Given the description of an element on the screen output the (x, y) to click on. 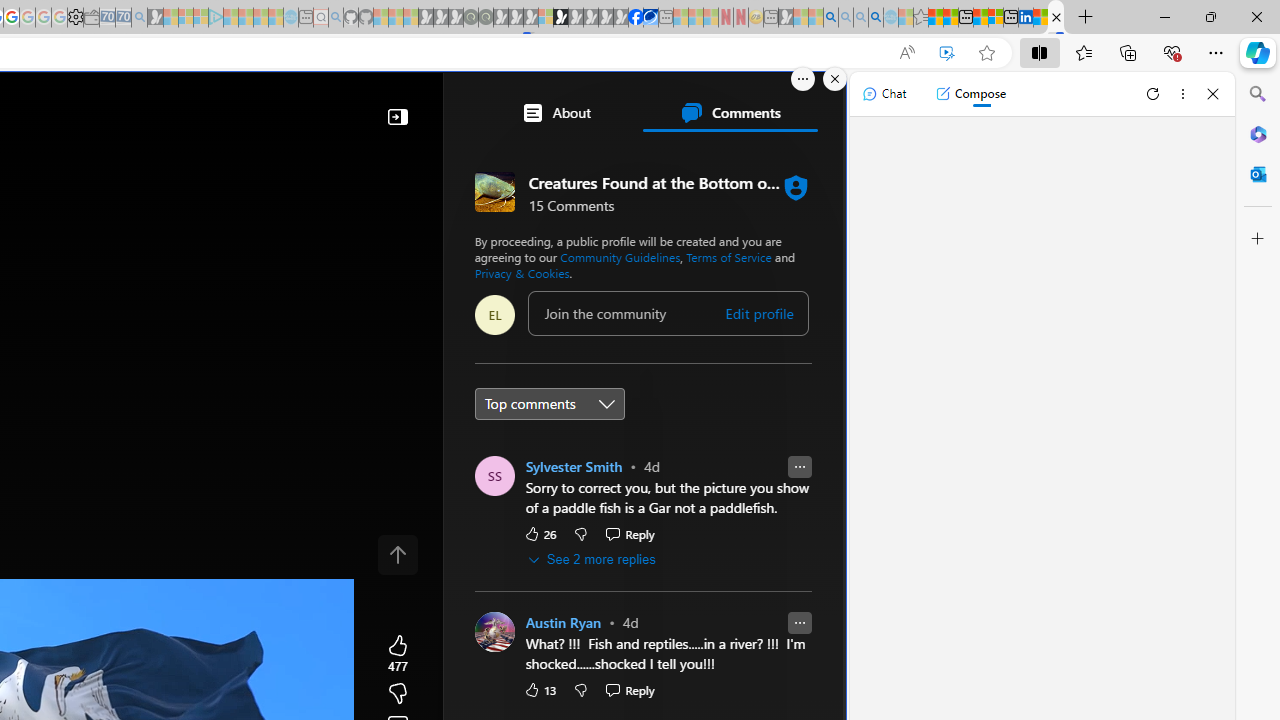
Report comment (799, 623)
MSN - Sleeping (786, 17)
Close split screen. (835, 79)
26 Like (539, 533)
Terms of Service (728, 255)
